Given the description of an element on the screen output the (x, y) to click on. 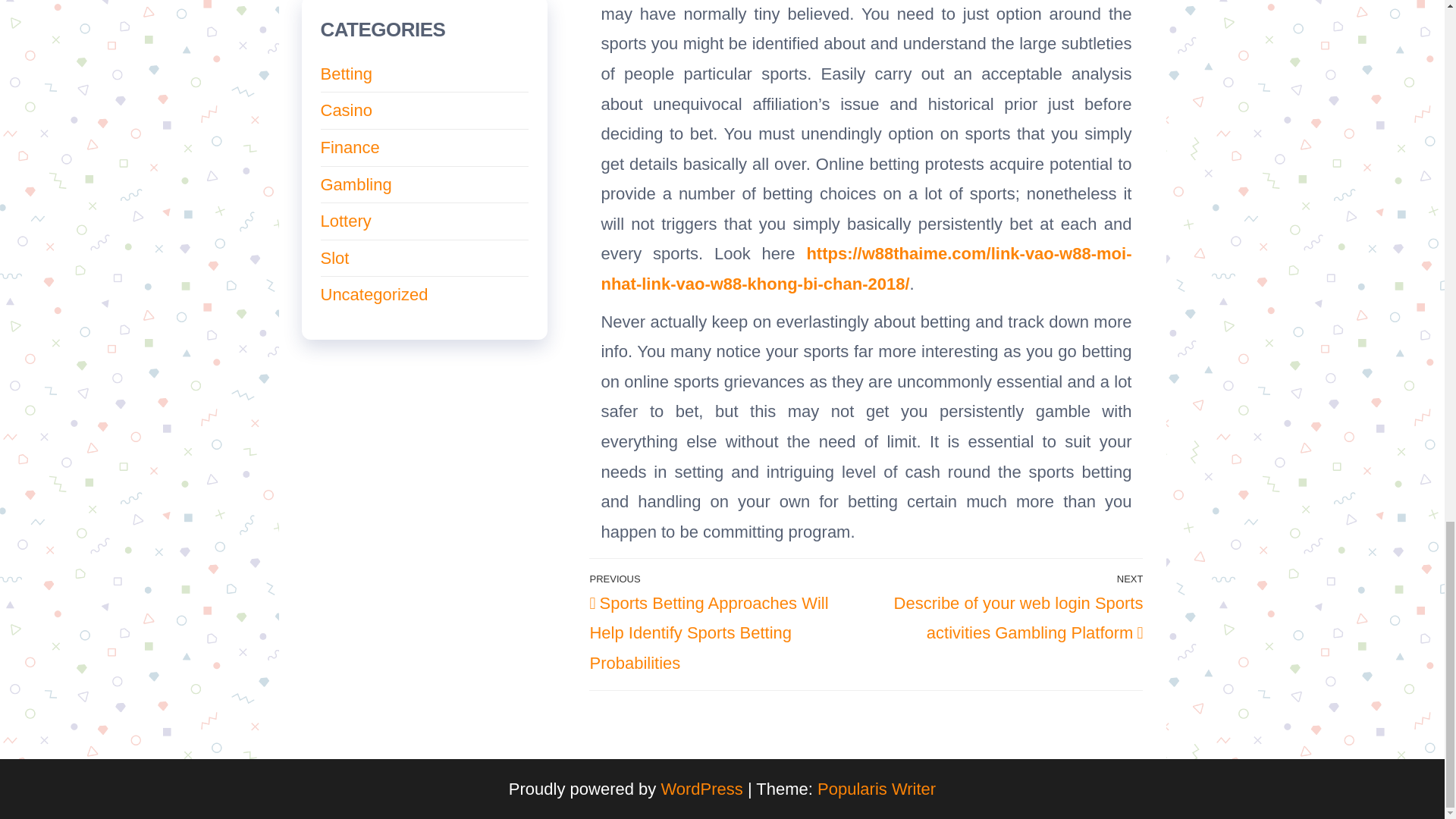
Betting (346, 73)
Slot (334, 257)
Uncategorized (374, 294)
Casino (345, 109)
Finance (349, 147)
Gambling (355, 184)
WordPress (701, 788)
Popularis Writer (876, 788)
